Given the description of an element on the screen output the (x, y) to click on. 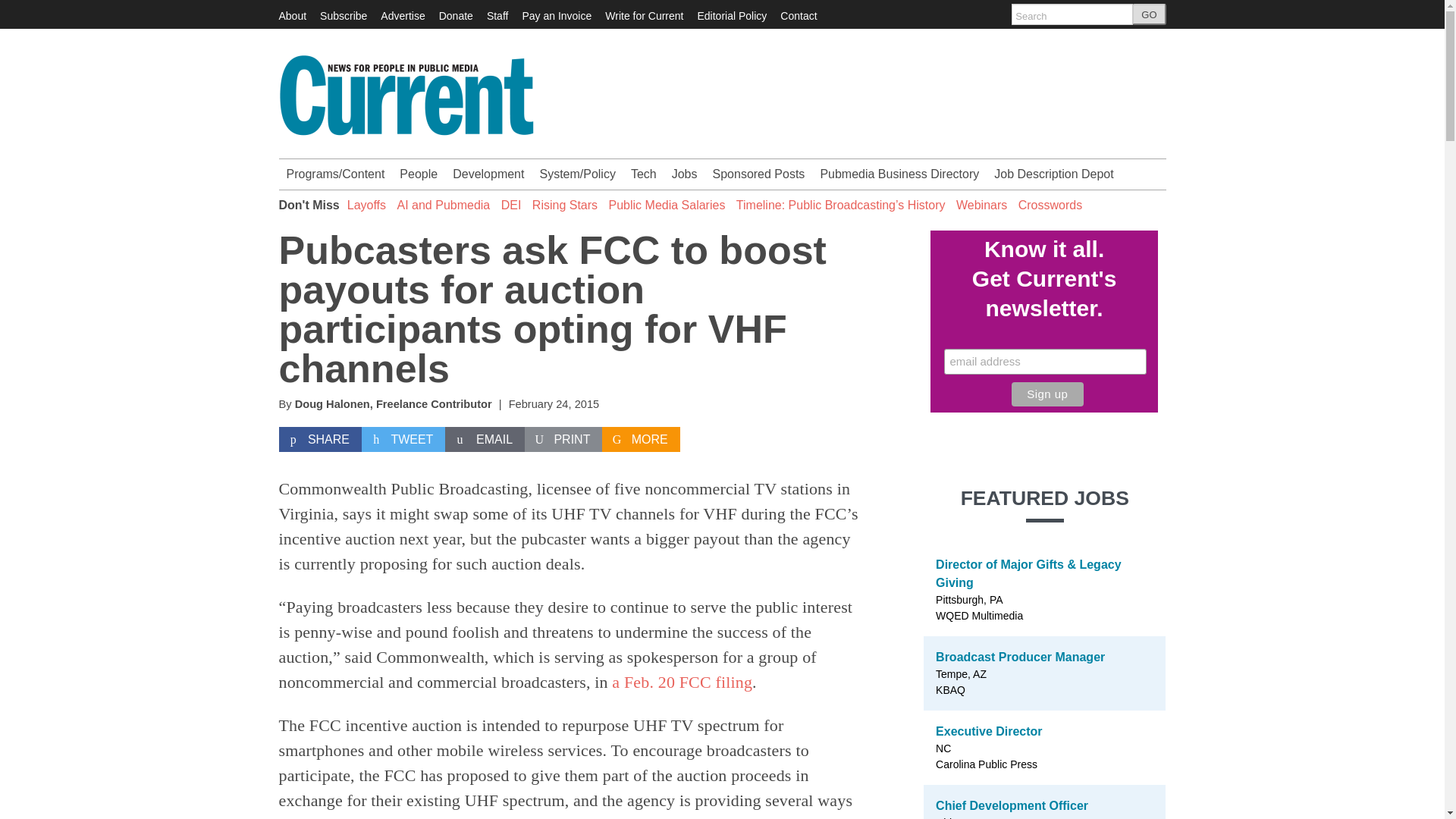
People (418, 173)
About (293, 15)
Pay an Invoice (556, 15)
Read All Posts By Doug Halonen (332, 404)
Contact (798, 15)
Advertise (402, 15)
Sign up (1047, 394)
Donate (456, 15)
Write for Current (643, 15)
Subscribe (343, 15)
